Given the description of an element on the screen output the (x, y) to click on. 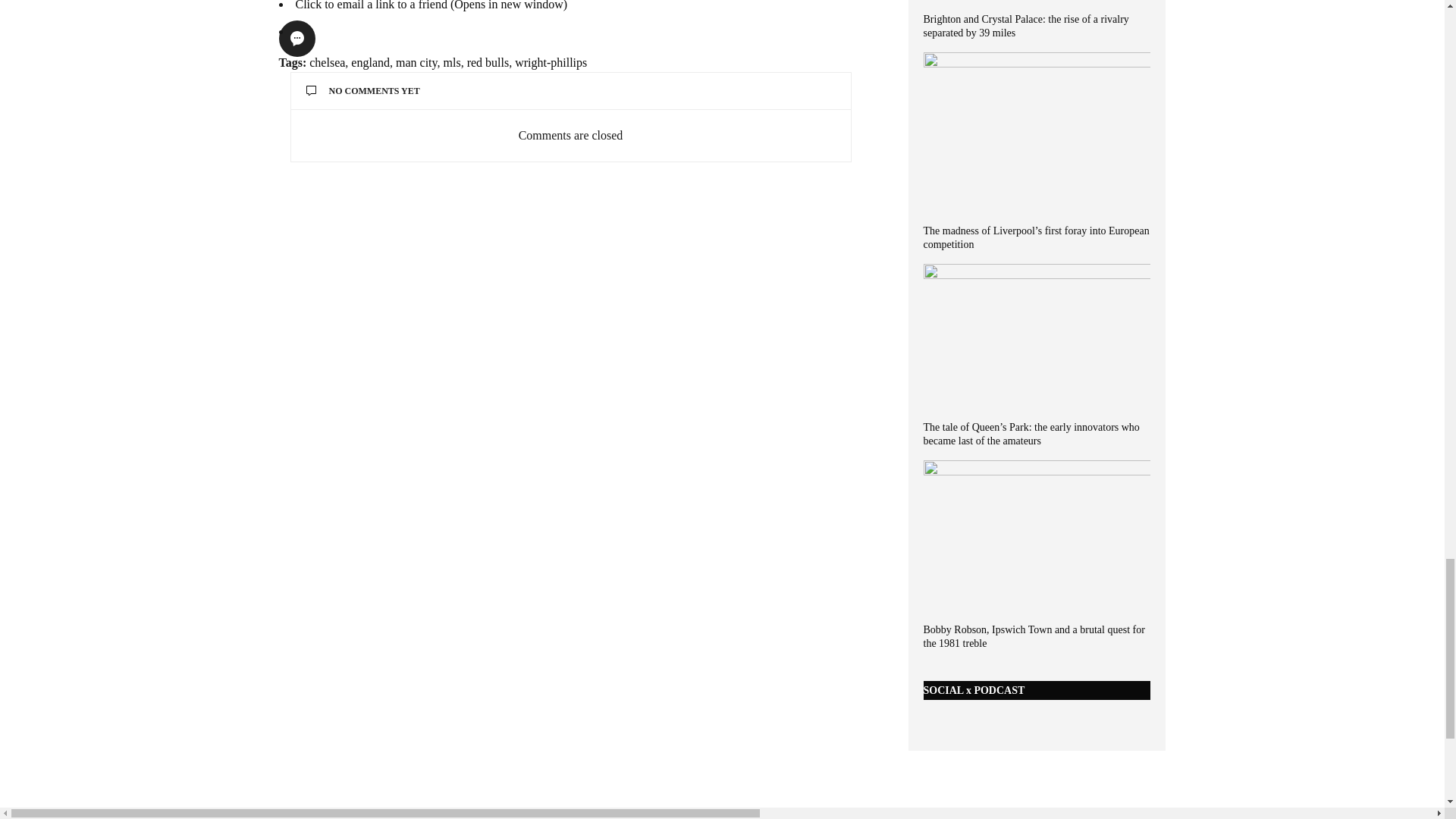
Click to email a link to a friend (431, 5)
